Given the description of an element on the screen output the (x, y) to click on. 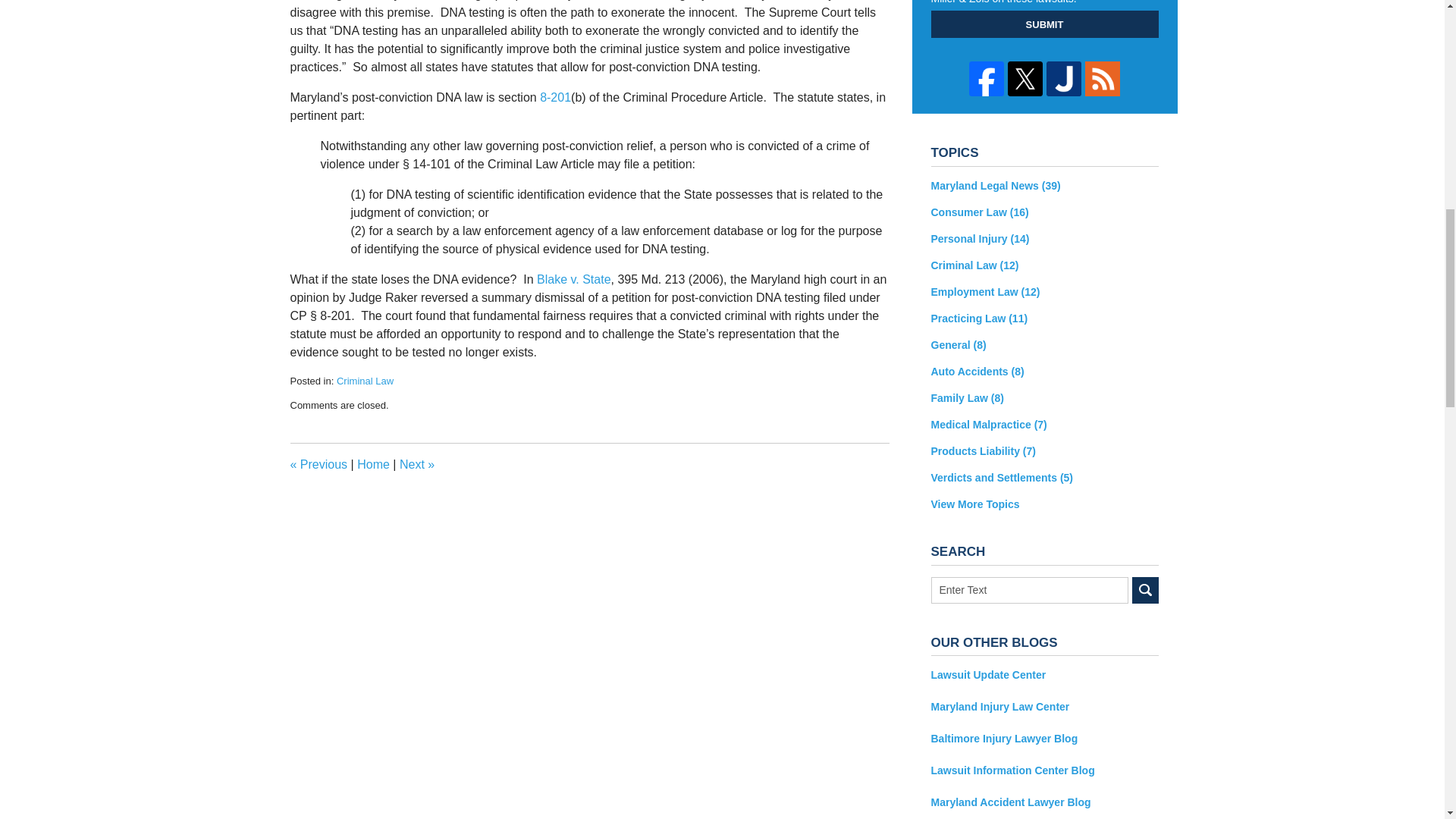
Blake v. State (574, 278)
Feed (1101, 78)
Criminal Law (364, 380)
Justia (1063, 78)
Facebook (986, 78)
Twitter (1024, 78)
View all posts in Criminal Law (364, 380)
8-201 (555, 97)
SUBMIT (1044, 23)
Home (373, 463)
Black Police Officers Sue Annapolis (318, 463)
